Given the description of an element on the screen output the (x, y) to click on. 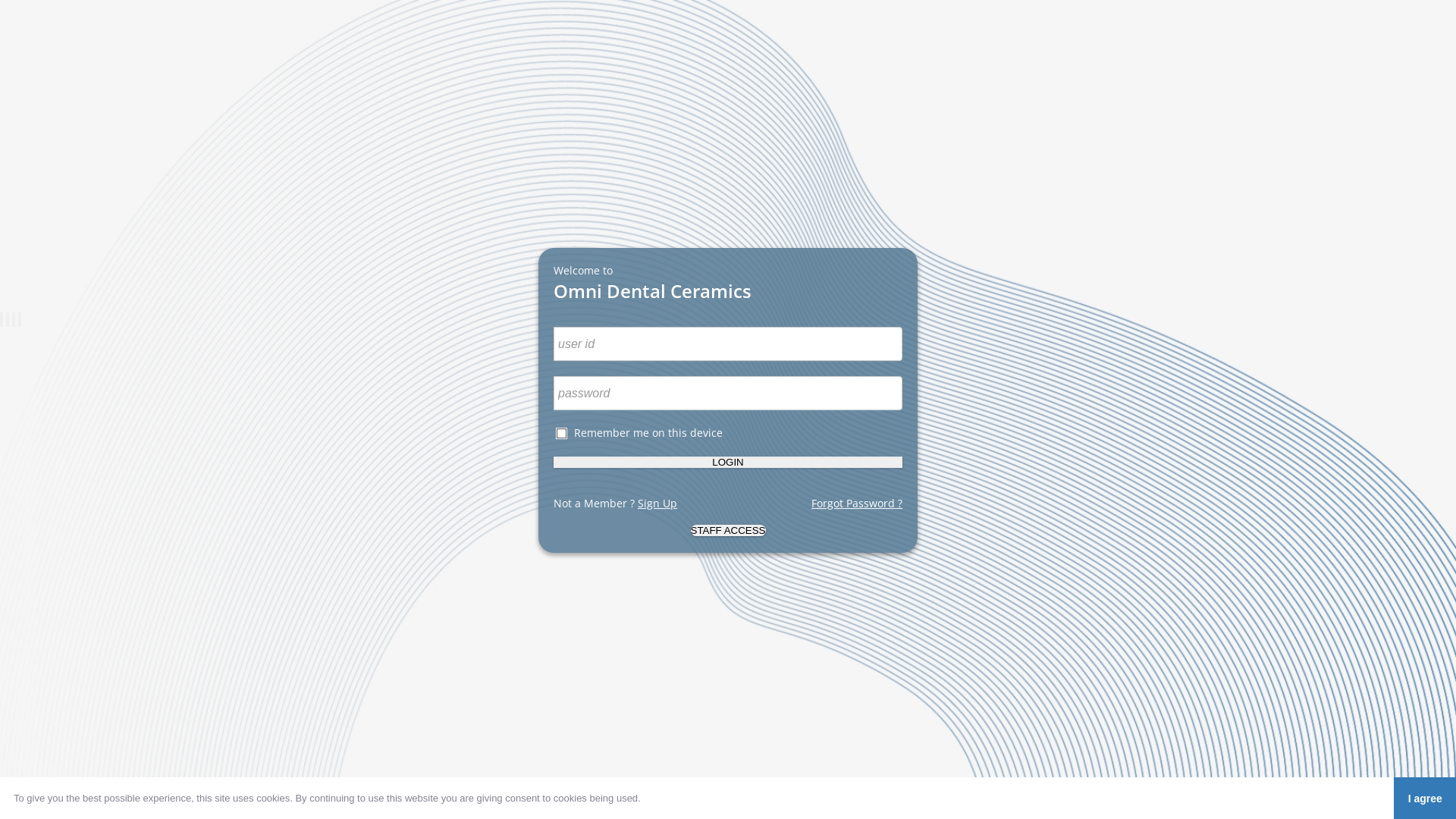
Login Element type: text (727, 461)
Sign Up Element type: text (657, 502)
Forgot Password ? Element type: text (856, 502)
staff access Element type: text (727, 530)
